Given the description of an element on the screen output the (x, y) to click on. 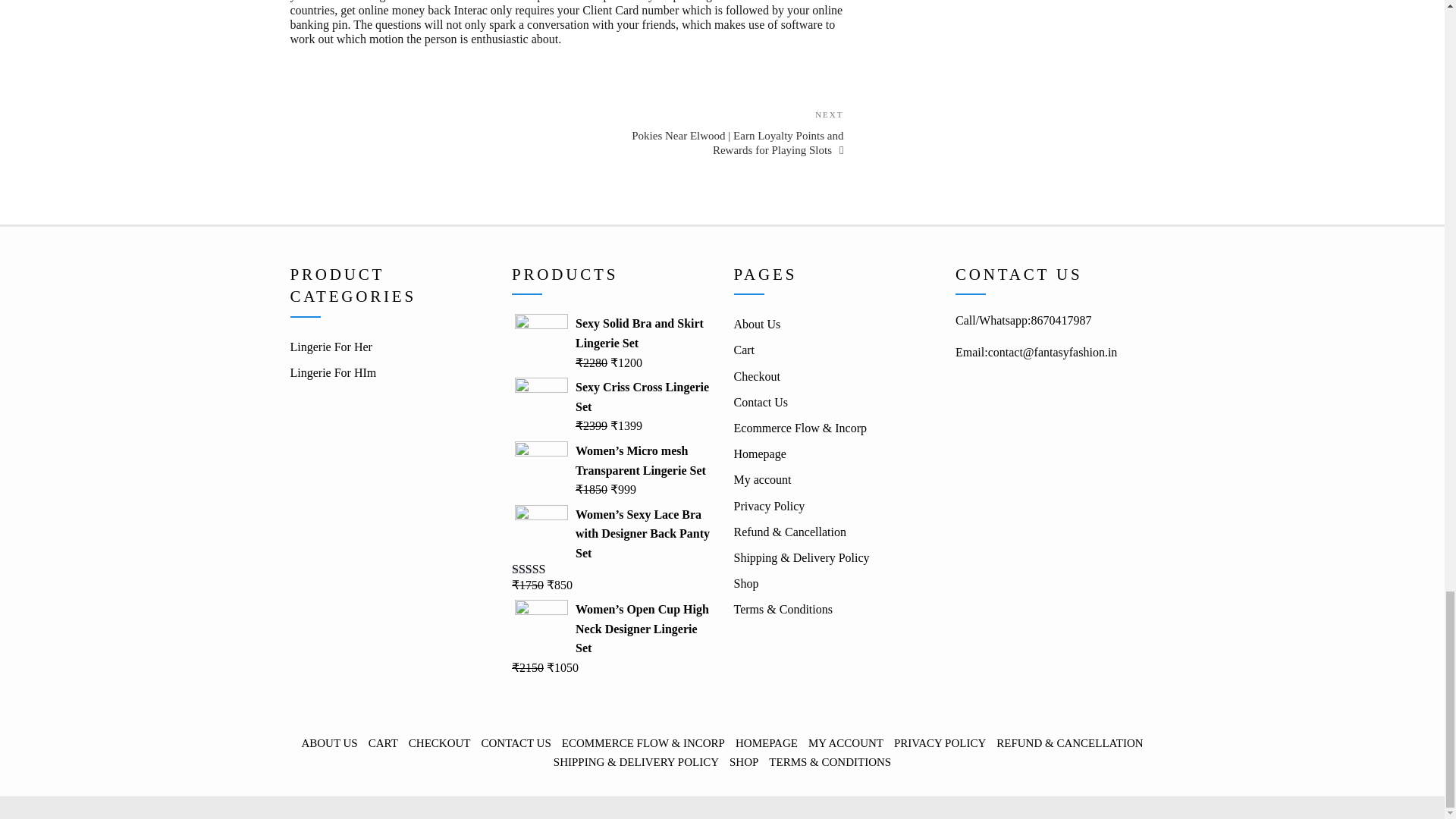
Lingerie For Her (330, 346)
